Given the description of an element on the screen output the (x, y) to click on. 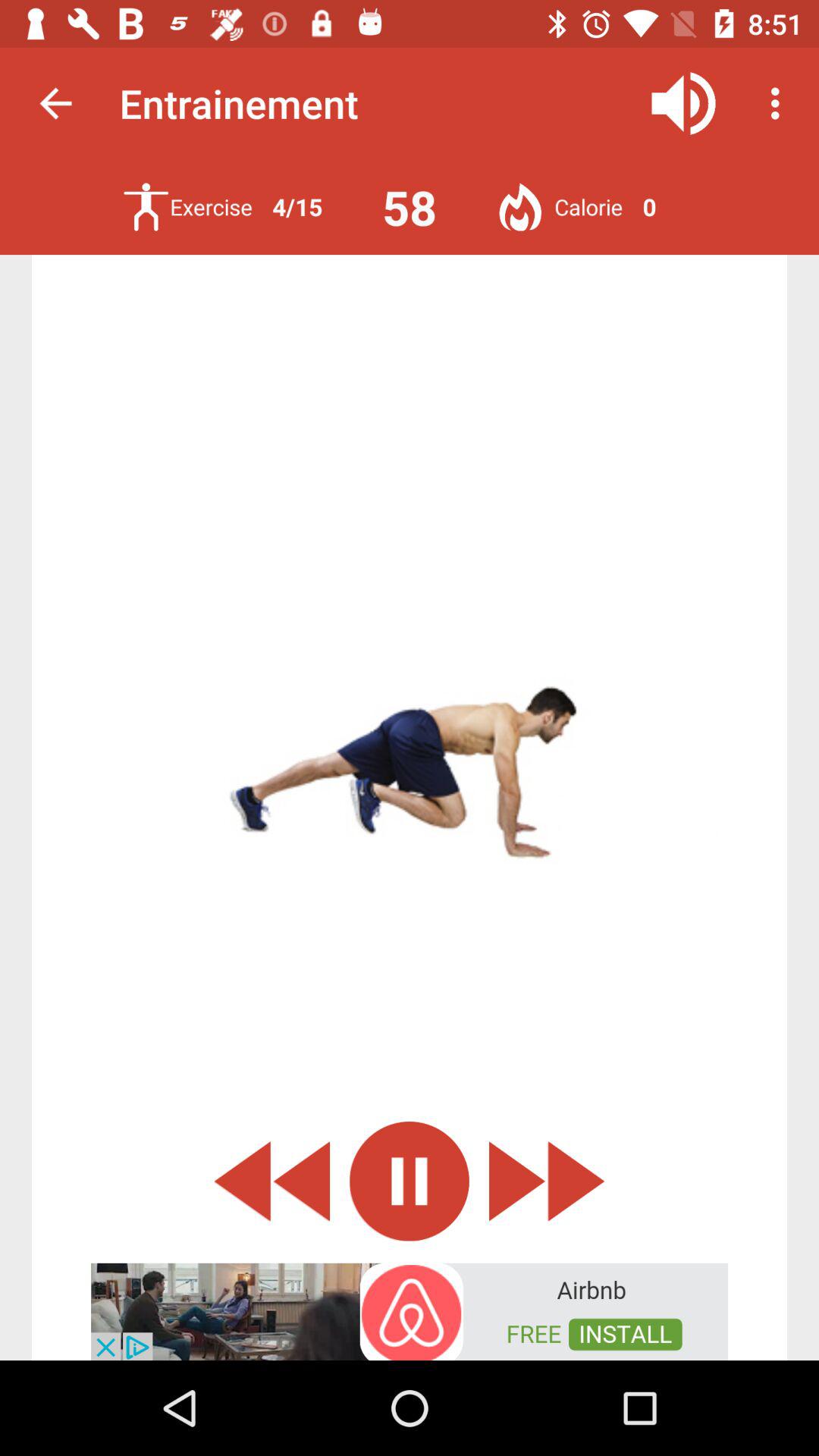
pause (409, 1181)
